Given the description of an element on the screen output the (x, y) to click on. 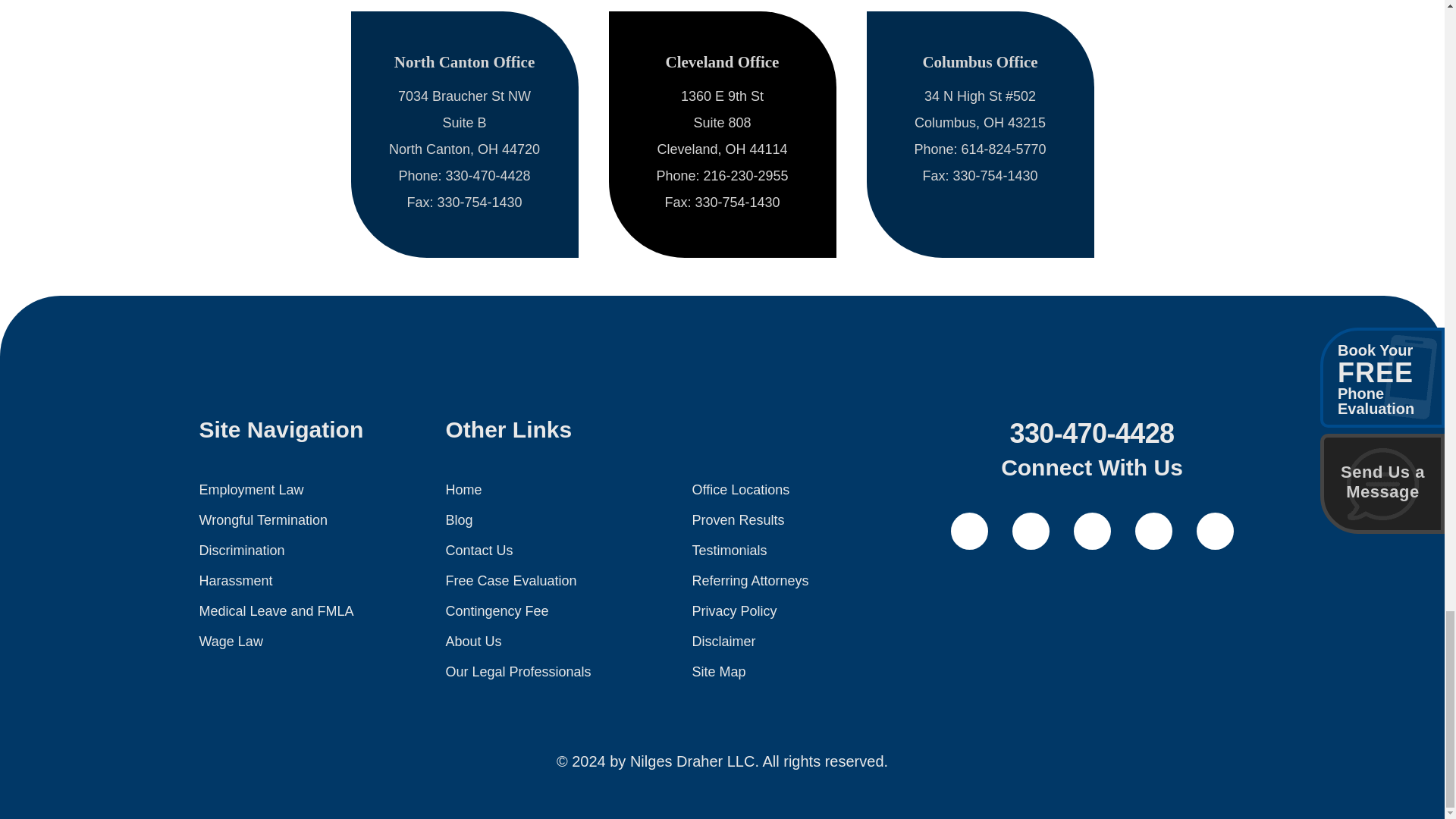
Wrongful Termination (262, 519)
Employment Law (250, 489)
youtube (1092, 530)
linkedin (1153, 530)
facebook (969, 530)
Nilges Draher LLC (721, 370)
twitter (1029, 530)
instagram (1214, 530)
